Given the description of an element on the screen output the (x, y) to click on. 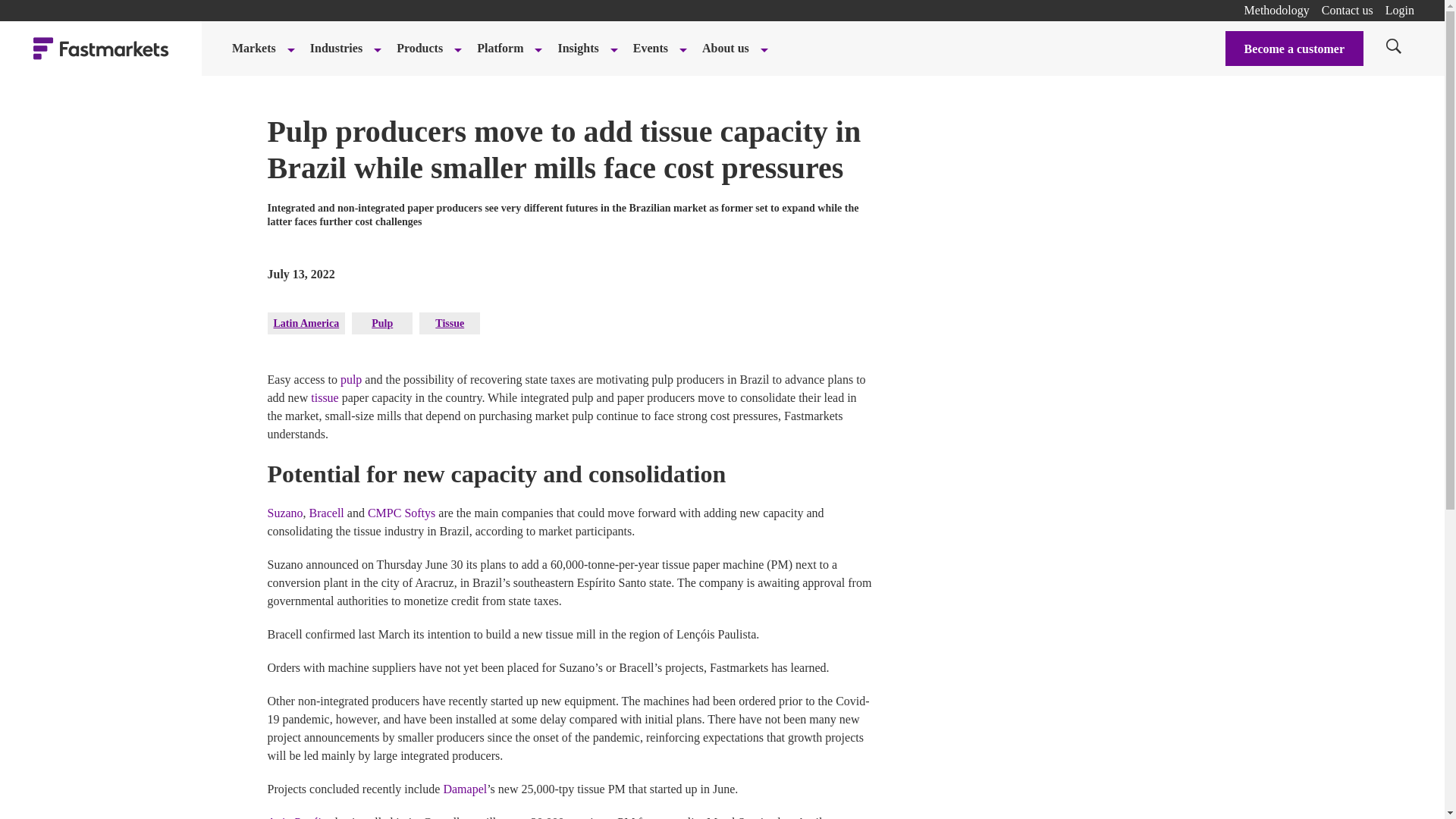
Methodology (1276, 10)
Login (1399, 10)
Contact us (1347, 10)
